Given the description of an element on the screen output the (x, y) to click on. 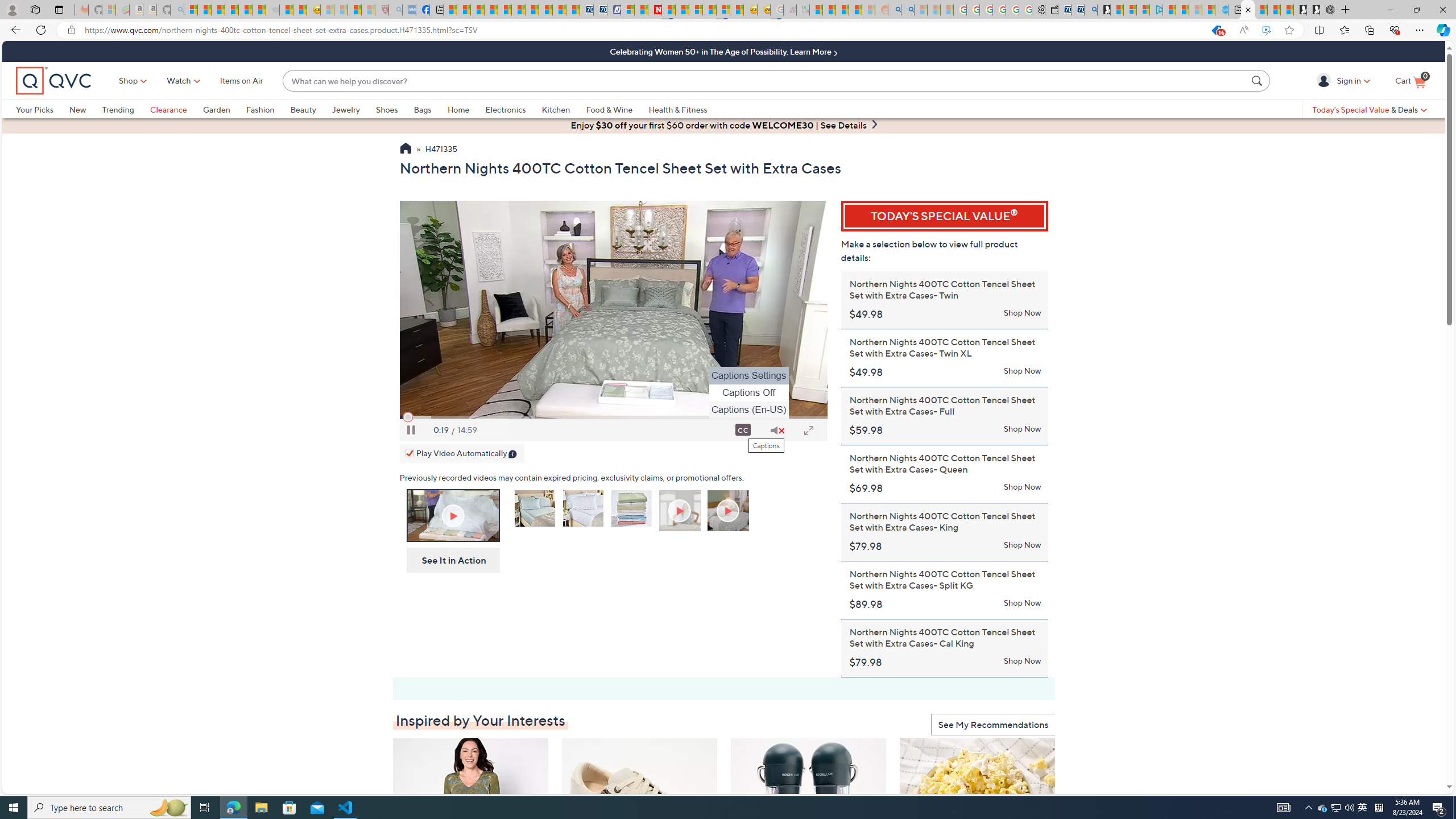
Jewelry (345, 109)
On-Air Presentation (453, 515)
Items on Air (241, 80)
Clearance (168, 109)
